Given the description of an element on the screen output the (x, y) to click on. 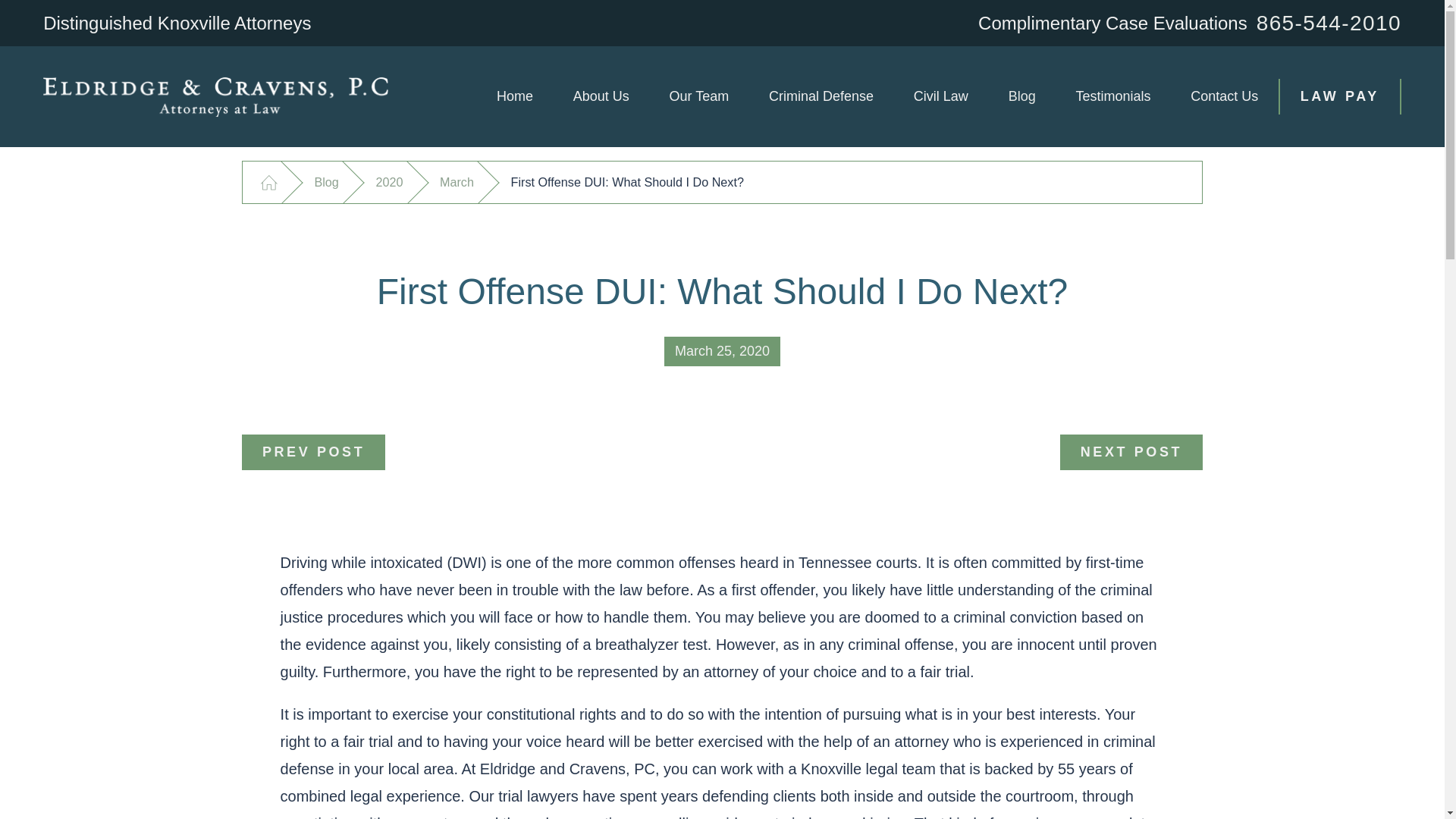
About Us (601, 96)
Go Home (269, 181)
Civil Law (940, 96)
865-544-2010 (1328, 23)
March (456, 182)
Our Team (698, 96)
Testimonials (1112, 96)
Blog (325, 182)
Contact Us (1224, 96)
PREV POST (313, 452)
2020 (389, 182)
Criminal Defense (821, 96)
Eldridge and Cravens, PC (216, 96)
LAW PAY (1339, 96)
